Given the description of an element on the screen output the (x, y) to click on. 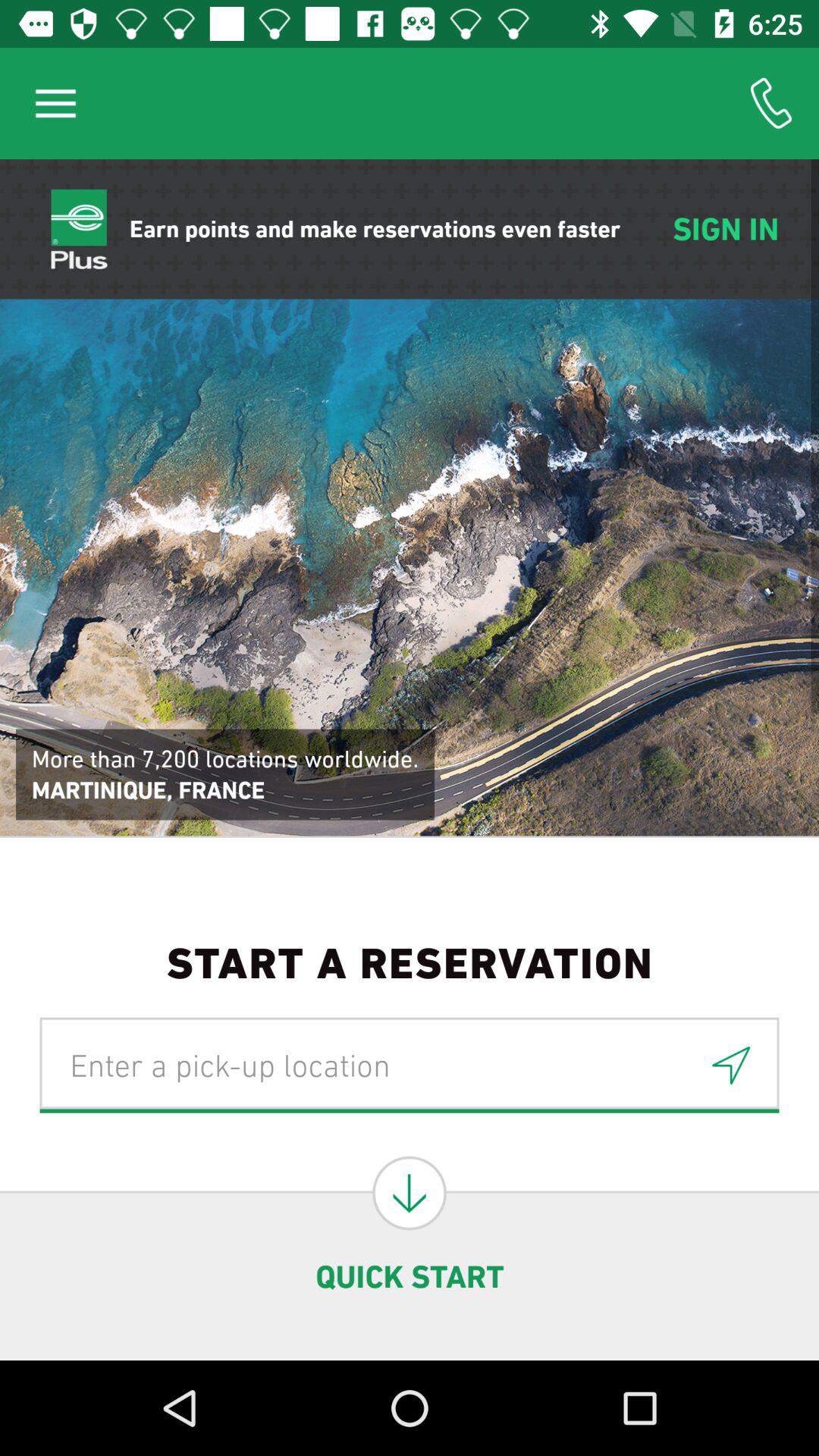
tap the quick start icon (409, 1276)
